Given the description of an element on the screen output the (x, y) to click on. 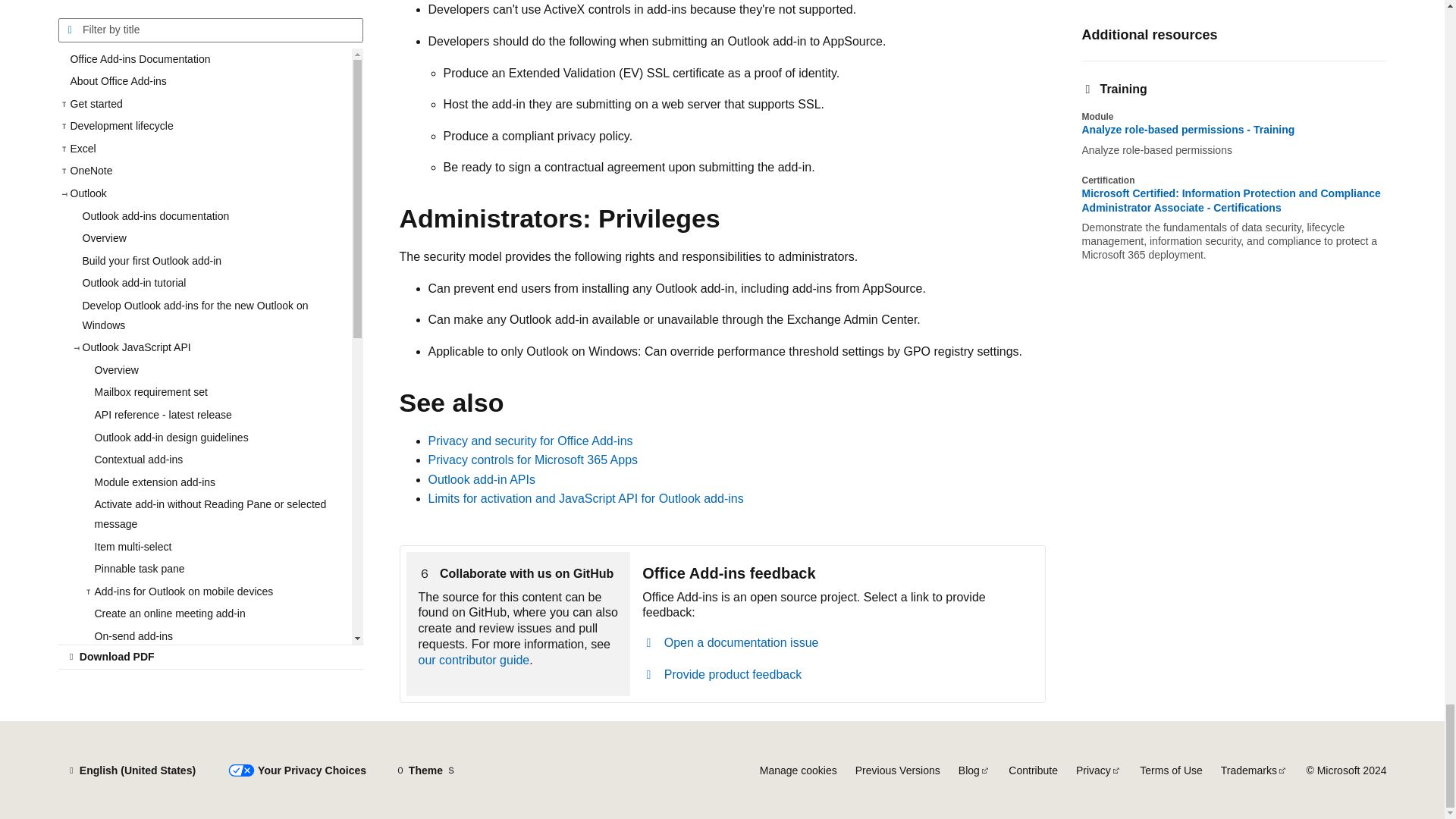
Theme (425, 770)
